Given the description of an element on the screen output the (x, y) to click on. 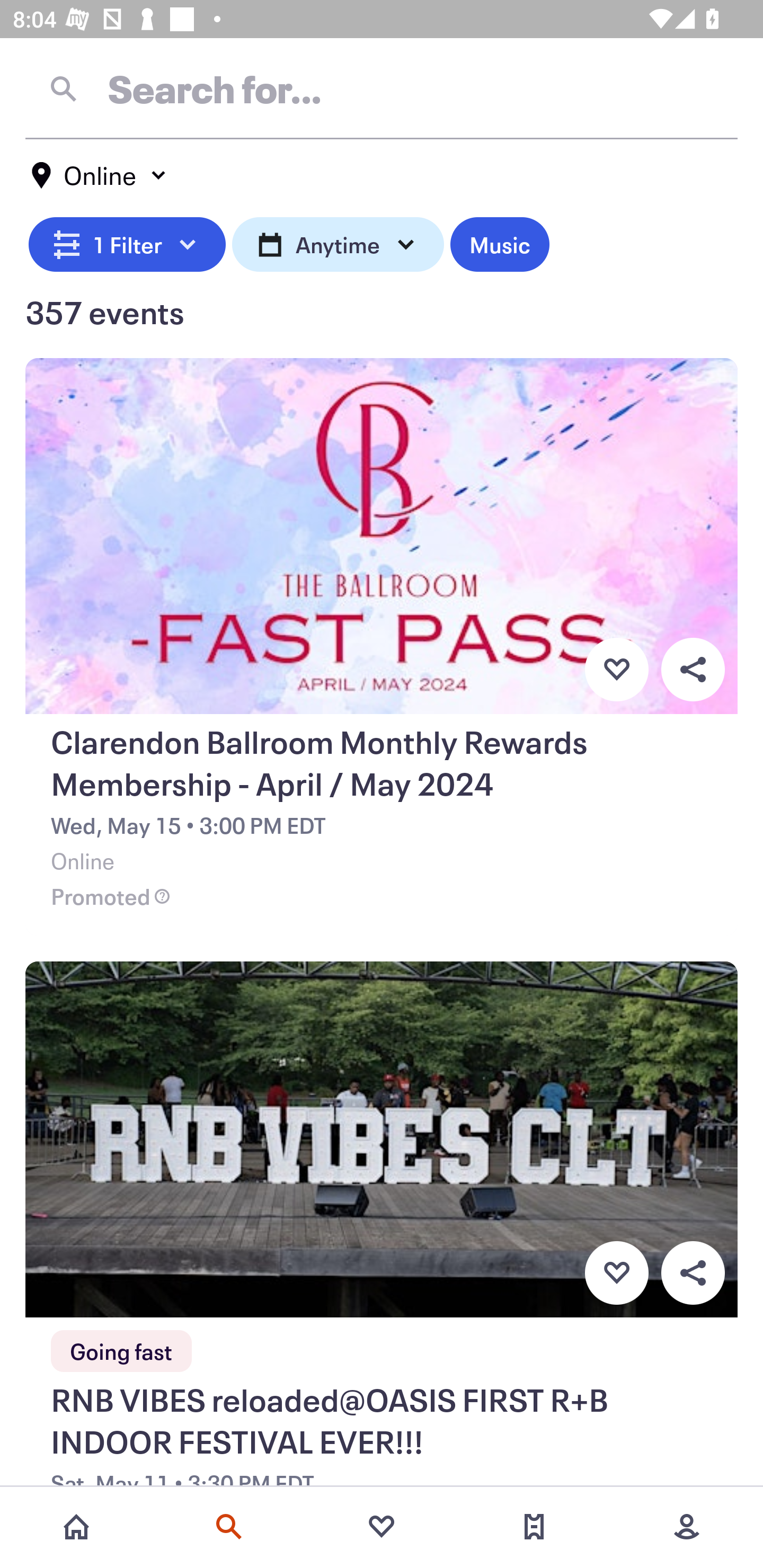
Search for… (381, 88)
Online (99, 175)
1 Filter (126, 241)
Anytime (337, 241)
Music (499, 241)
Favorite button (616, 669)
Overflow menu button (692, 669)
Favorite button (616, 1272)
Overflow menu button (692, 1272)
Home (76, 1526)
Search events (228, 1526)
Favorites (381, 1526)
Tickets (533, 1526)
More (686, 1526)
